Given the description of an element on the screen output the (x, y) to click on. 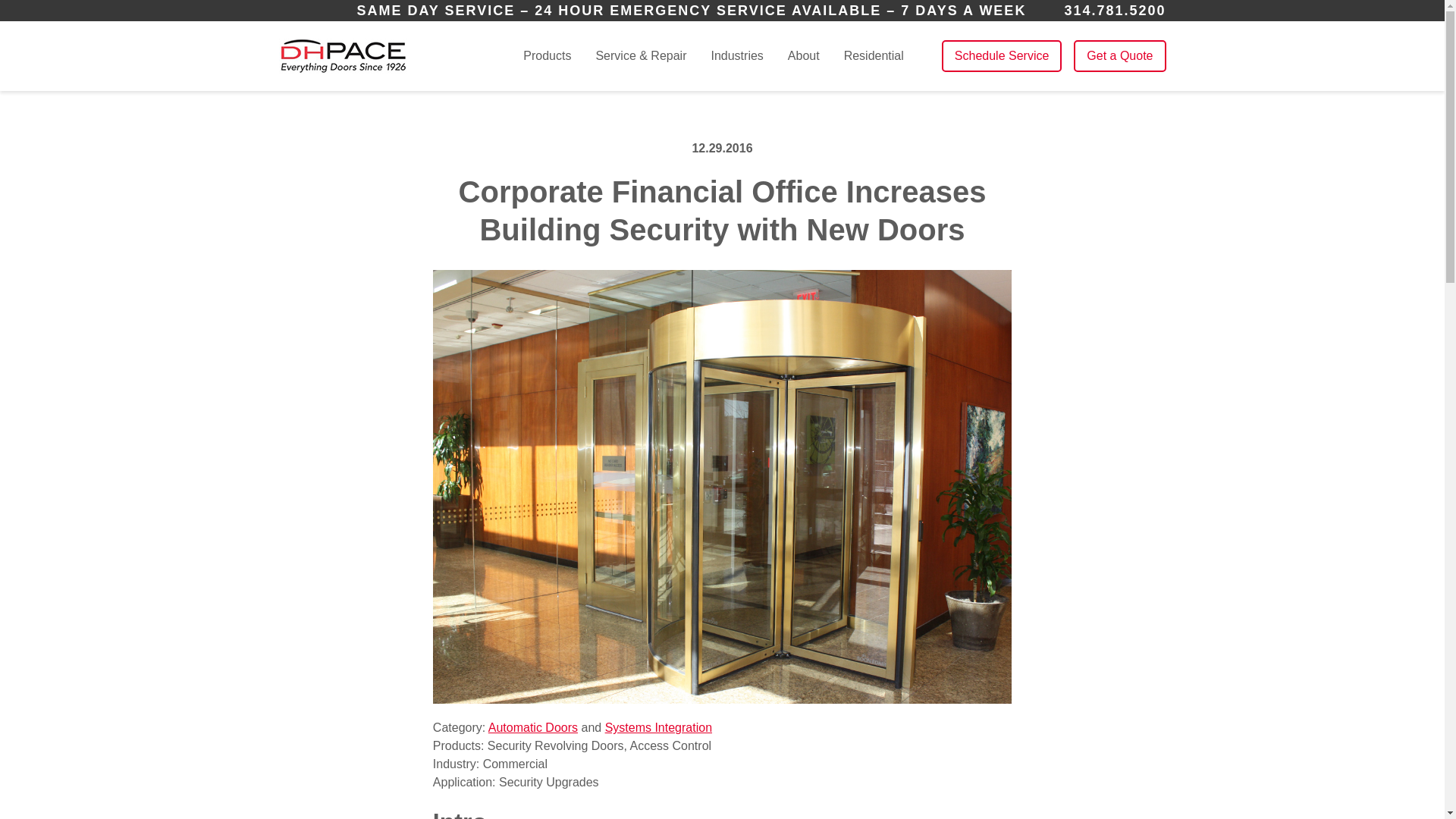
Residential (874, 55)
Schedule Service (1002, 56)
Industries (736, 55)
Products (546, 55)
About (803, 55)
314.781.5200 (1115, 10)
Get a Quote (1120, 56)
